Given the description of an element on the screen output the (x, y) to click on. 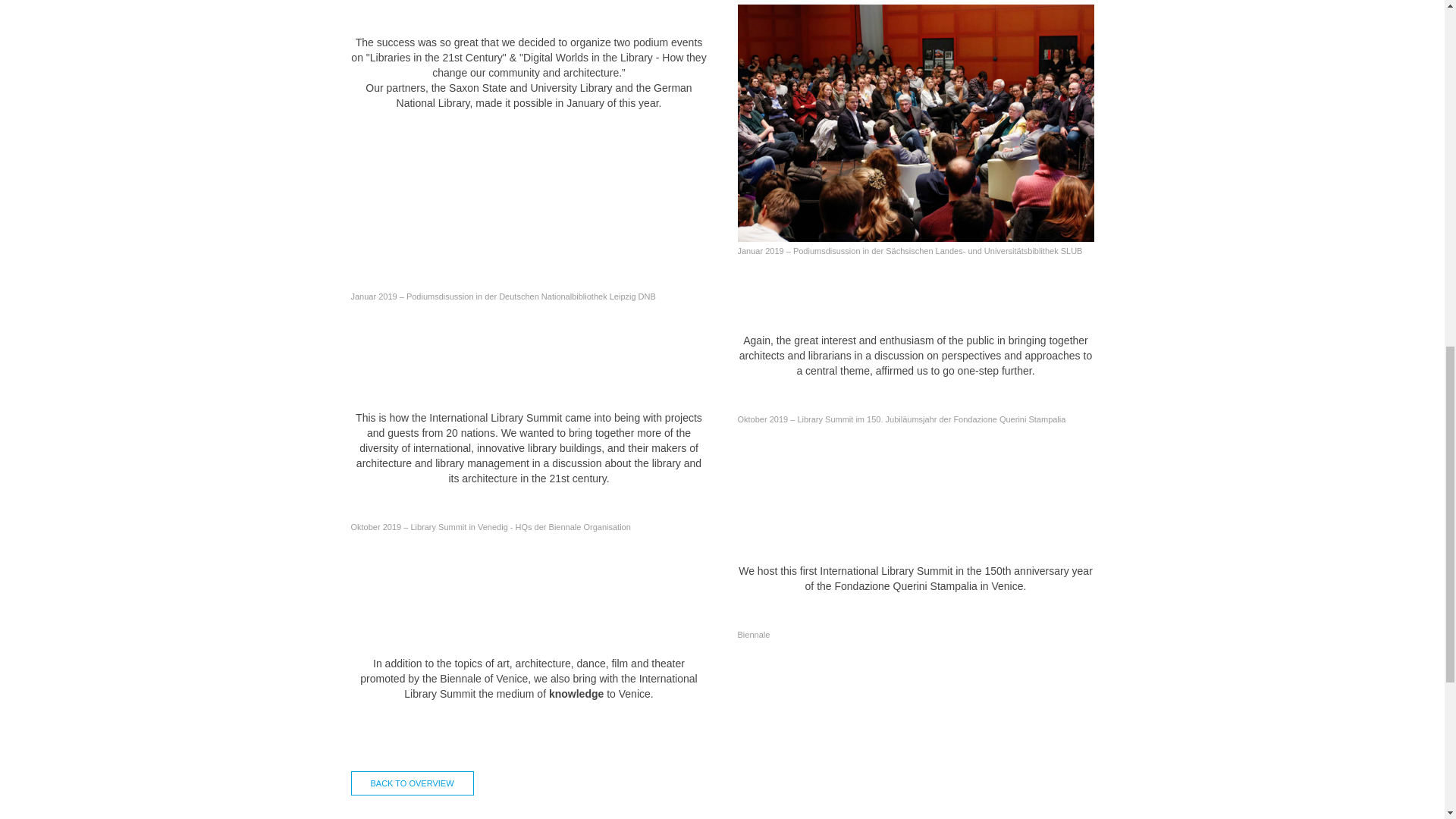
BACK TO OVERVIEW (411, 783)
